Given the description of an element on the screen output the (x, y) to click on. 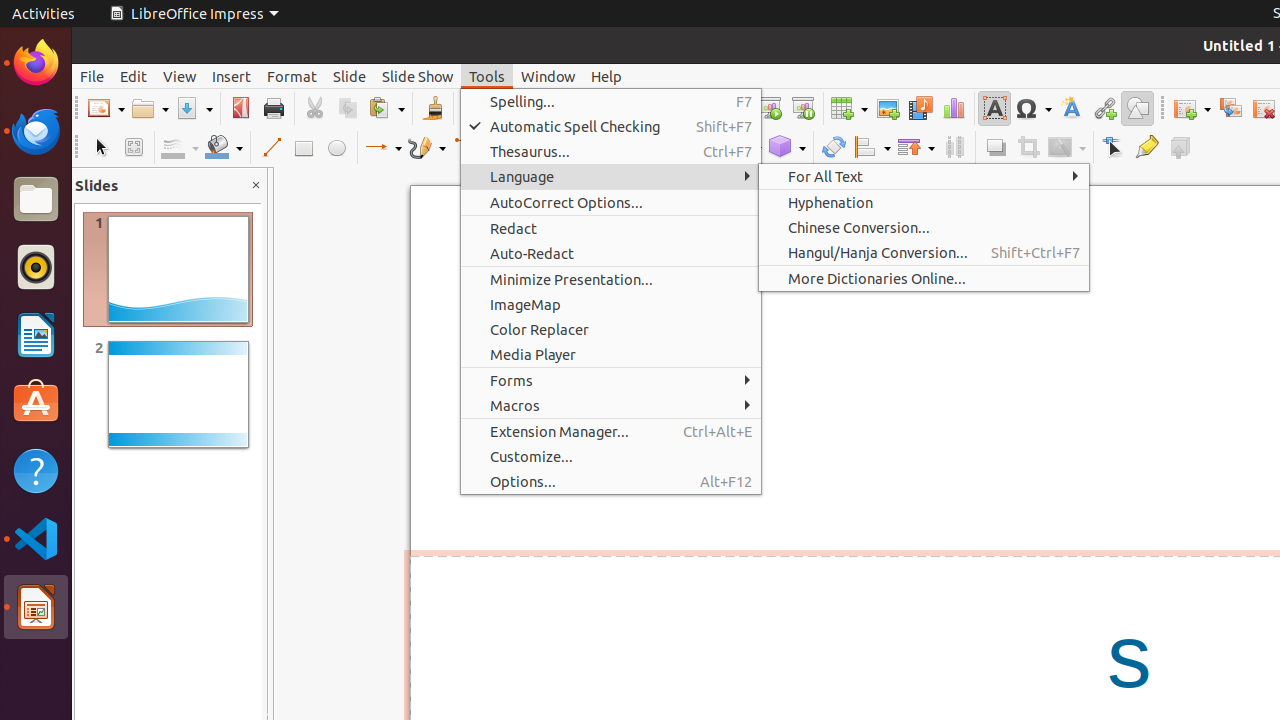
Line Element type: push-button (270, 147)
Auto-Redact Element type: menu-item (611, 253)
Insert Element type: menu (231, 76)
Chinese Conversion... Element type: menu-item (924, 227)
LibreOffice Impress Element type: menu (193, 13)
